Given the description of an element on the screen output the (x, y) to click on. 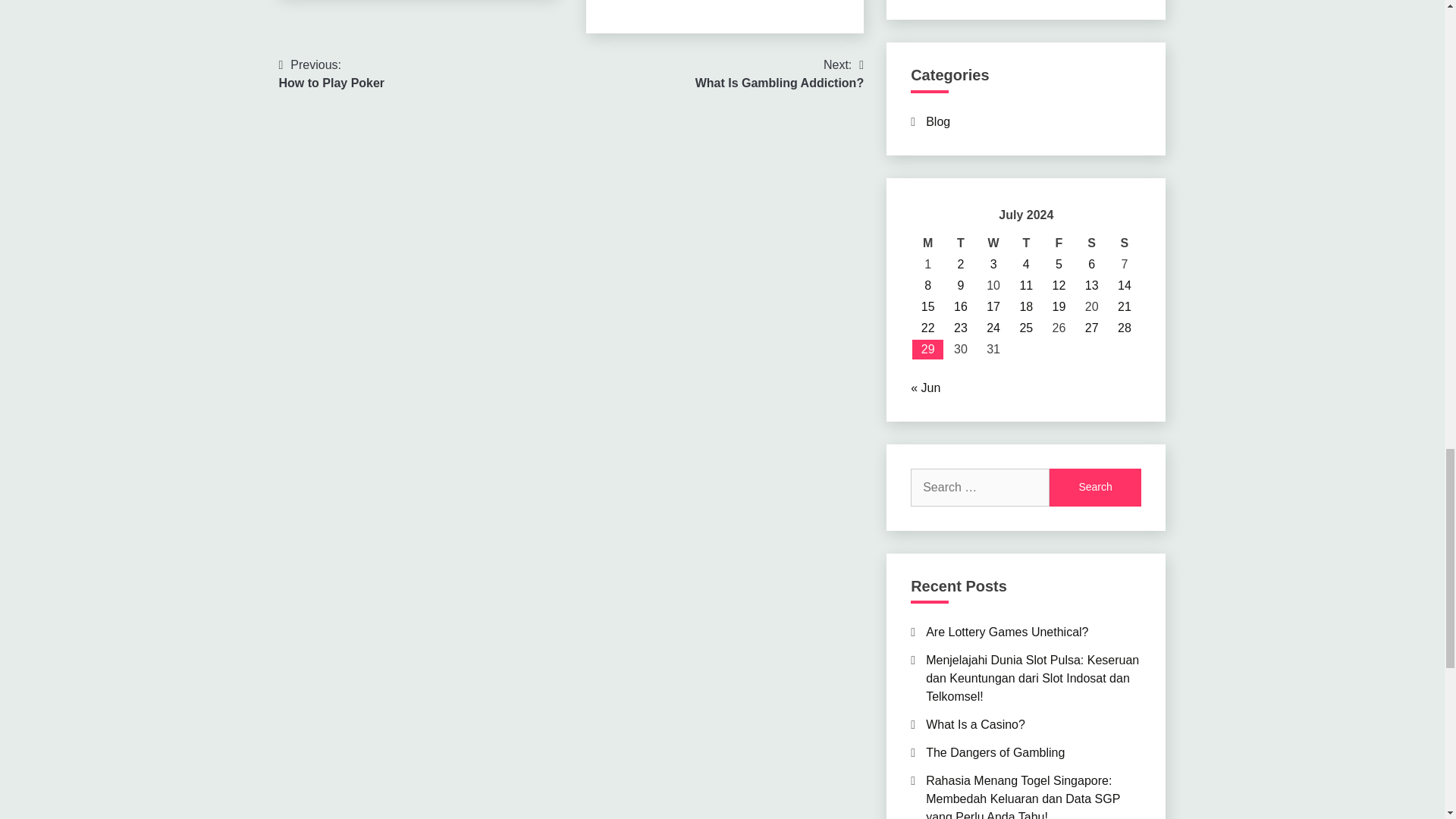
Tuesday (959, 243)
Friday (1058, 243)
Wednesday (993, 243)
Search (1095, 487)
Saturday (1090, 243)
Search (1095, 487)
Sunday (1124, 243)
Monday (927, 243)
Thursday (1026, 243)
